Given the description of an element on the screen output the (x, y) to click on. 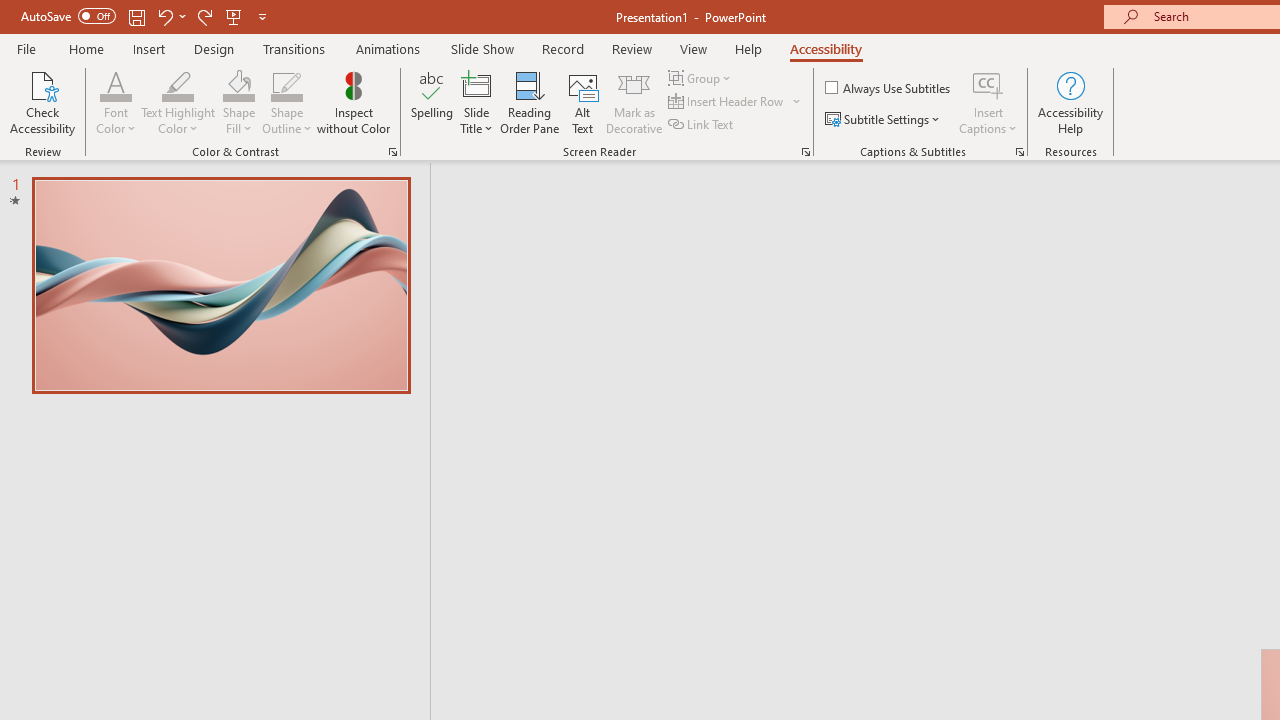
Screen Reader (805, 151)
Mark as Decorative (634, 102)
Insert Header Row (727, 101)
